Given the description of an element on the screen output the (x, y) to click on. 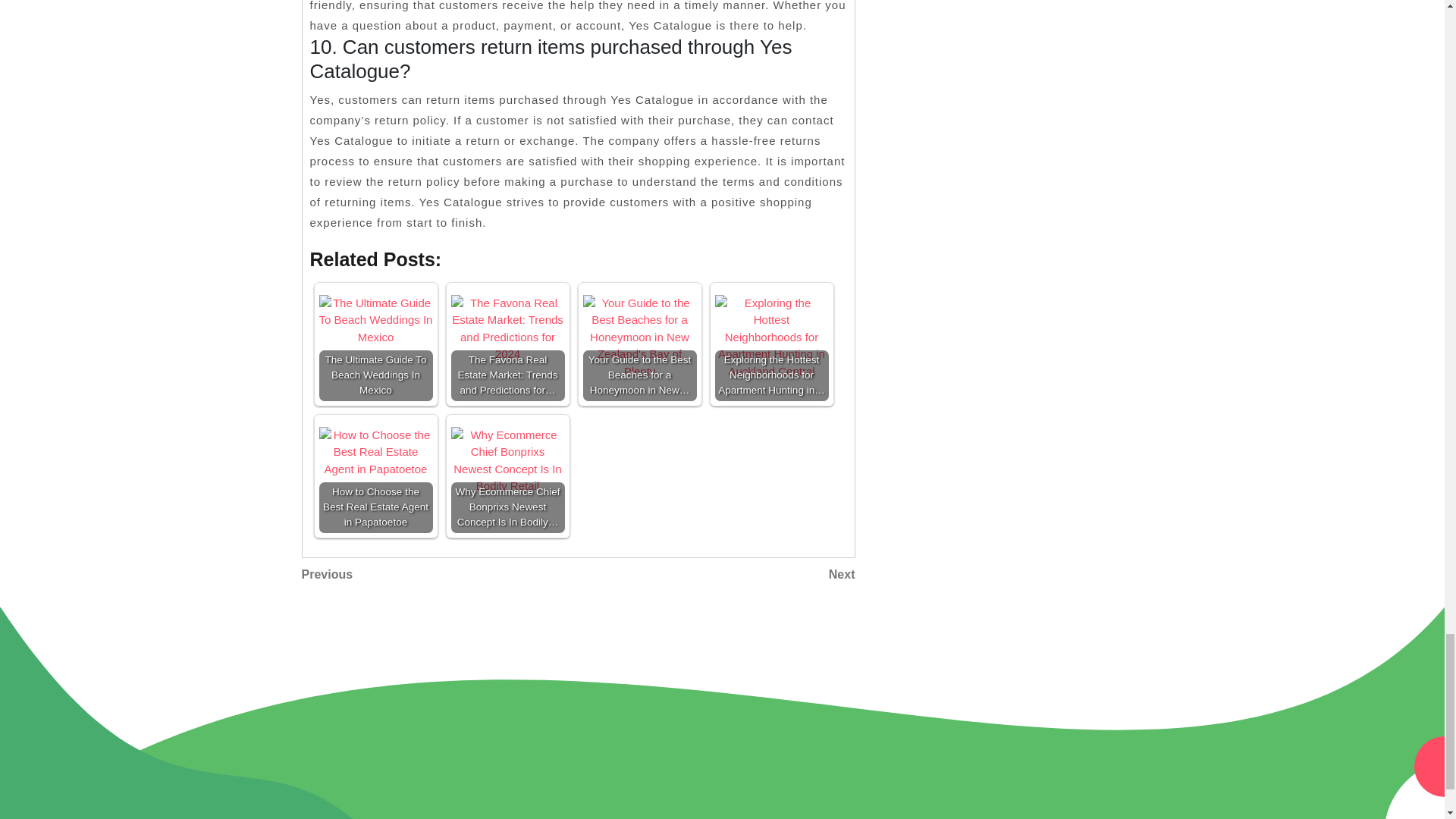
How to Choose the Best Real Estate Agent in Papatoetoe (439, 574)
The Ultimate Guide To Beach Weddings In Mexico (375, 452)
How to Choose the Best Real Estate Agent in Papatoetoe (375, 320)
The Ultimate Guide To Beach Weddings In Mexico (375, 476)
